Given the description of an element on the screen output the (x, y) to click on. 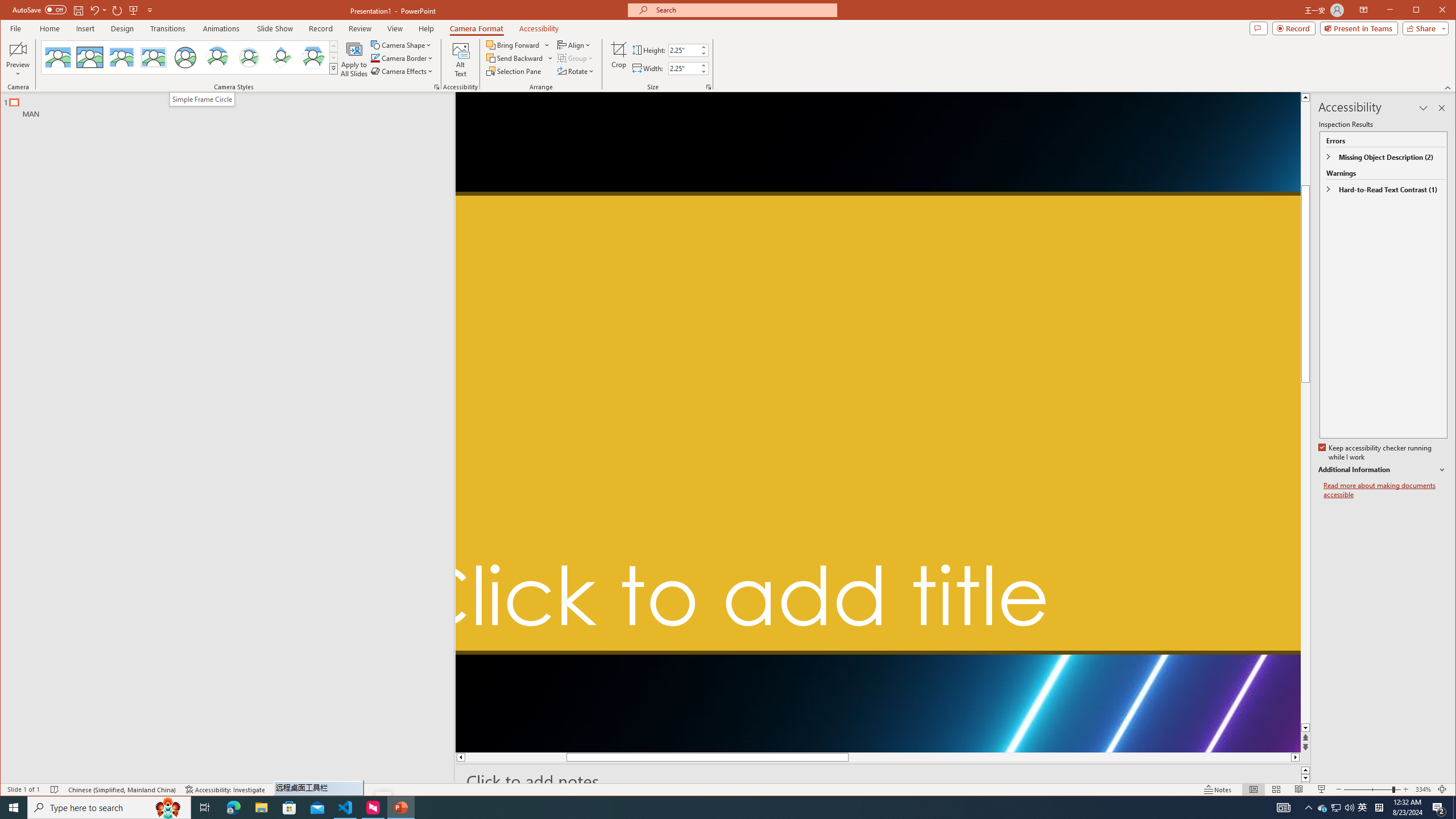
Running applications (700, 807)
Selection Pane... (514, 70)
Alt Text (460, 59)
Send Backward (515, 57)
Size and Position... (708, 86)
Rotate (577, 70)
Camera Styles (333, 68)
